Given the description of an element on the screen output the (x, y) to click on. 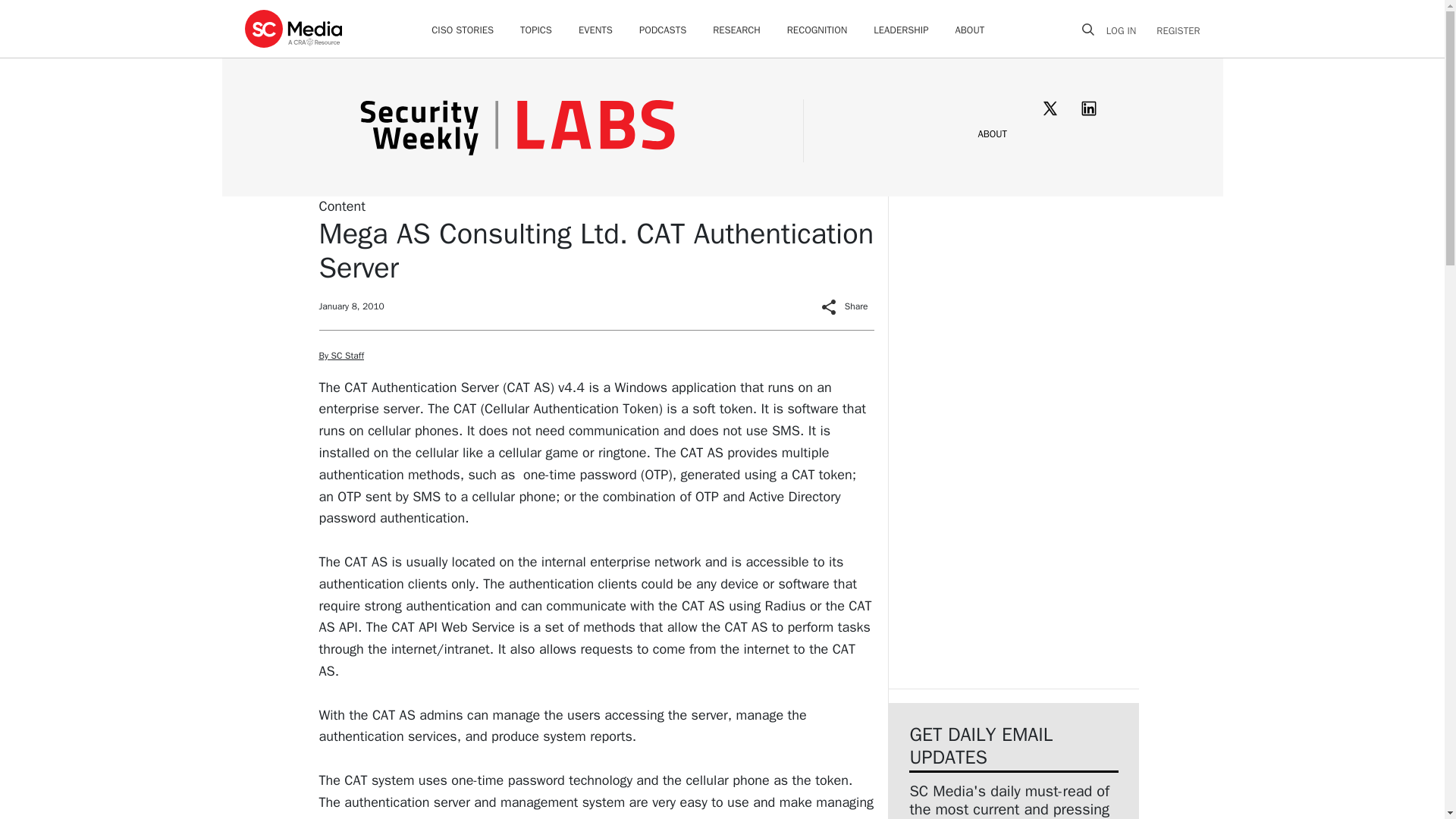
LEADERSHIP (900, 30)
PODCASTS (662, 30)
EVENTS (595, 30)
twitter (1050, 108)
ABOUT (970, 30)
CISO STORIES (461, 30)
TOPICS (535, 30)
RECOGNITION (817, 30)
SC Media (292, 27)
By SC Staff (340, 355)
